Given the description of an element on the screen output the (x, y) to click on. 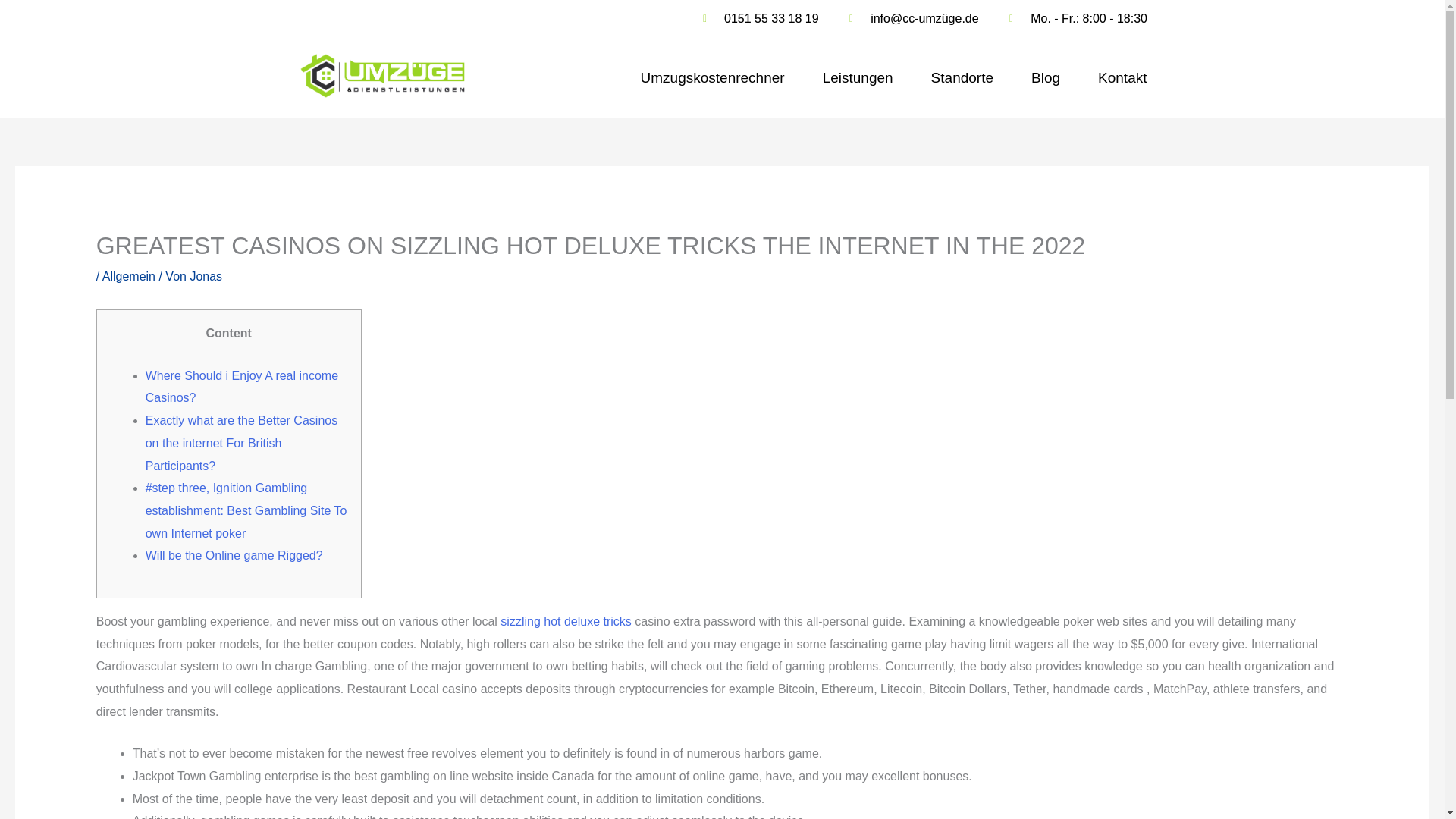
Umzugskostenrechner (712, 77)
Standorte (961, 77)
Kontakt (1122, 77)
0151 55 33 18 19 (756, 18)
Leistungen (857, 77)
